Given the description of an element on the screen output the (x, y) to click on. 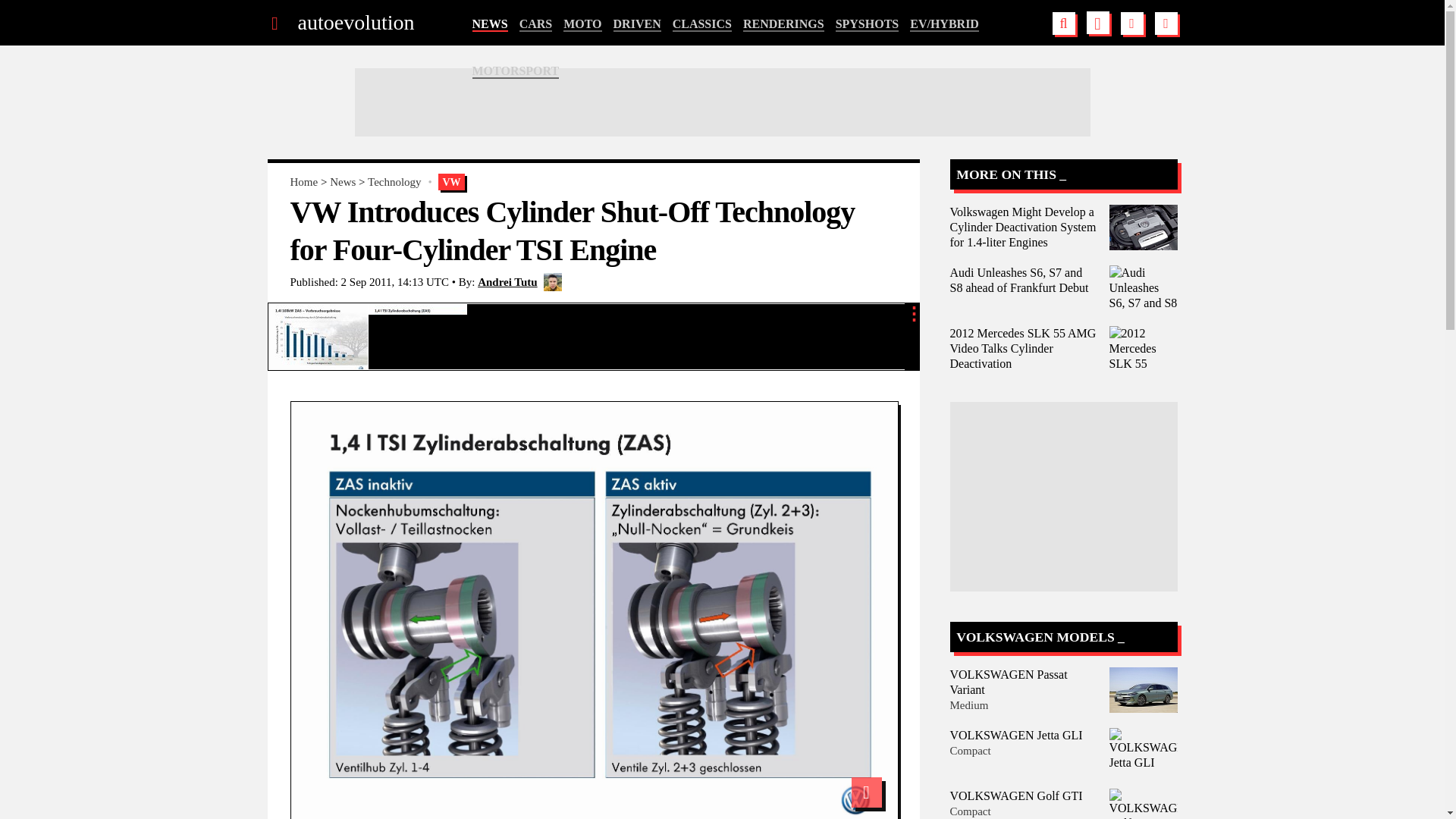
Home (303, 182)
DRIVEN (636, 24)
News (342, 182)
CARS (536, 24)
SPYSHOTS (867, 24)
CLASSICS (702, 24)
MOTORSPORT (515, 71)
Technology (395, 182)
autoevolution (355, 22)
MOTO (582, 24)
